Given the description of an element on the screen output the (x, y) to click on. 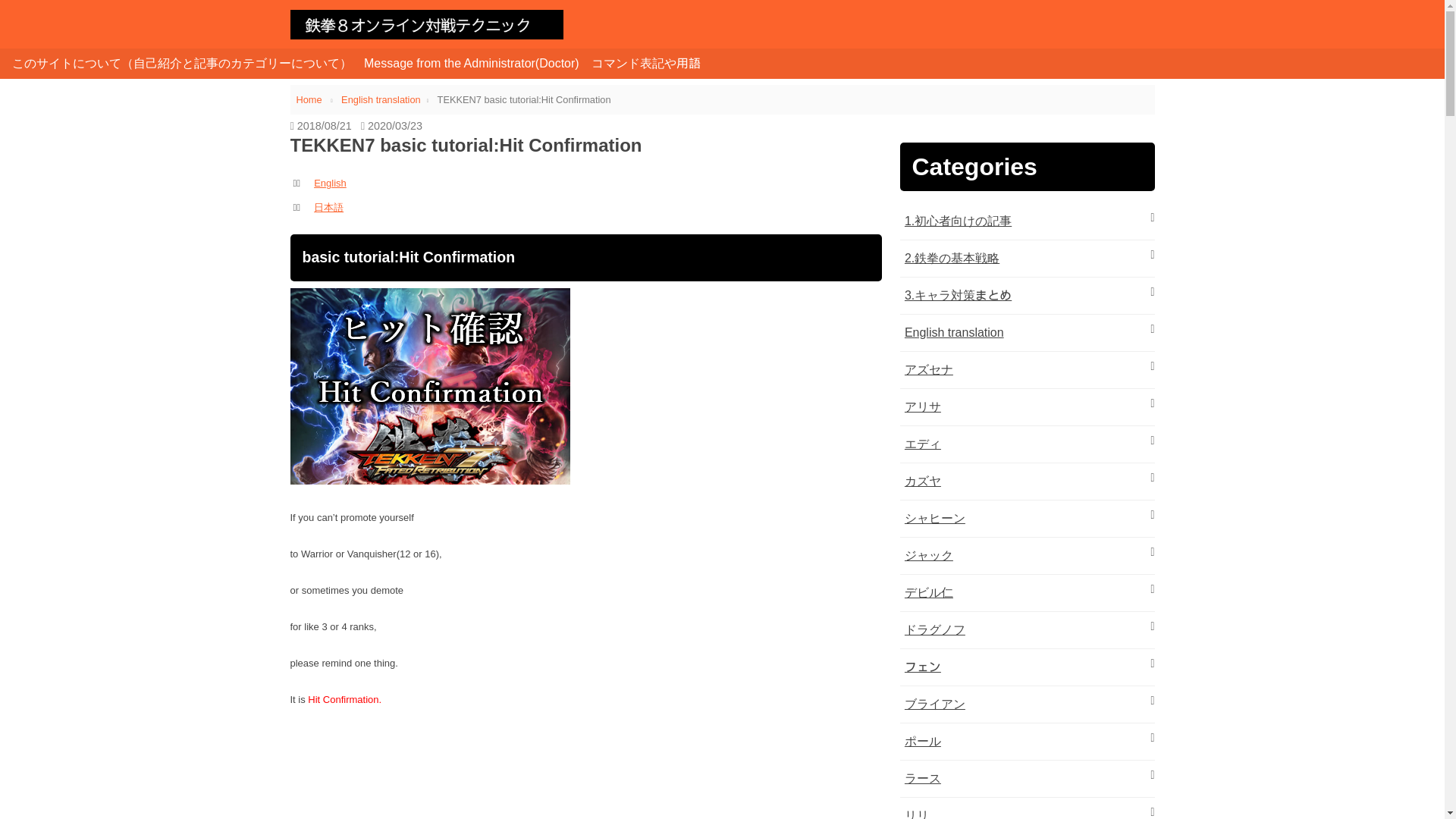
English translation (954, 332)
Japanese (328, 206)
English translation (380, 99)
Home (309, 99)
English (330, 183)
English (330, 183)
